Given the description of an element on the screen output the (x, y) to click on. 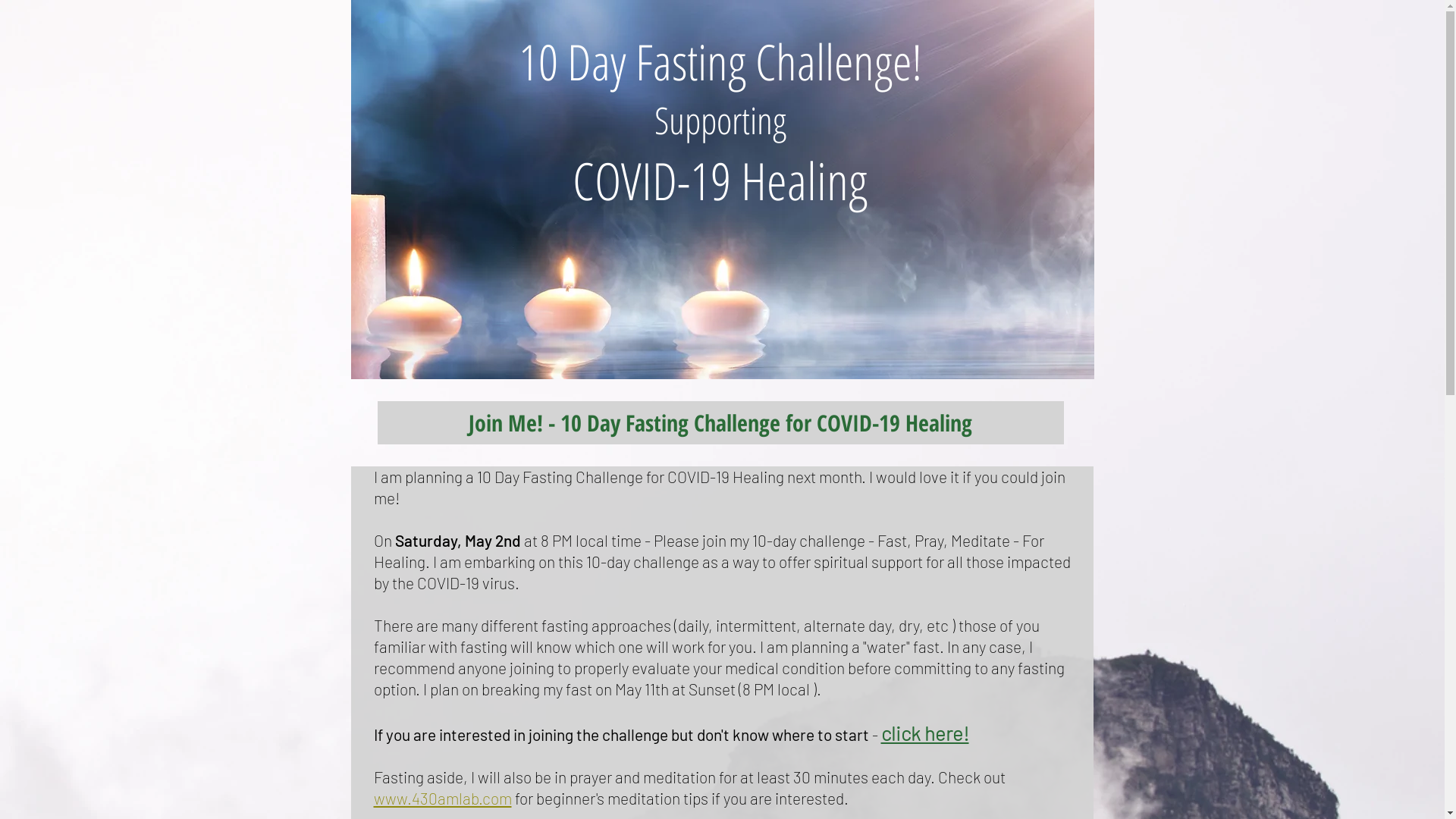
click here! Element type: text (925, 734)
www.430amlab.com Element type: text (442, 797)
